Given the description of an element on the screen output the (x, y) to click on. 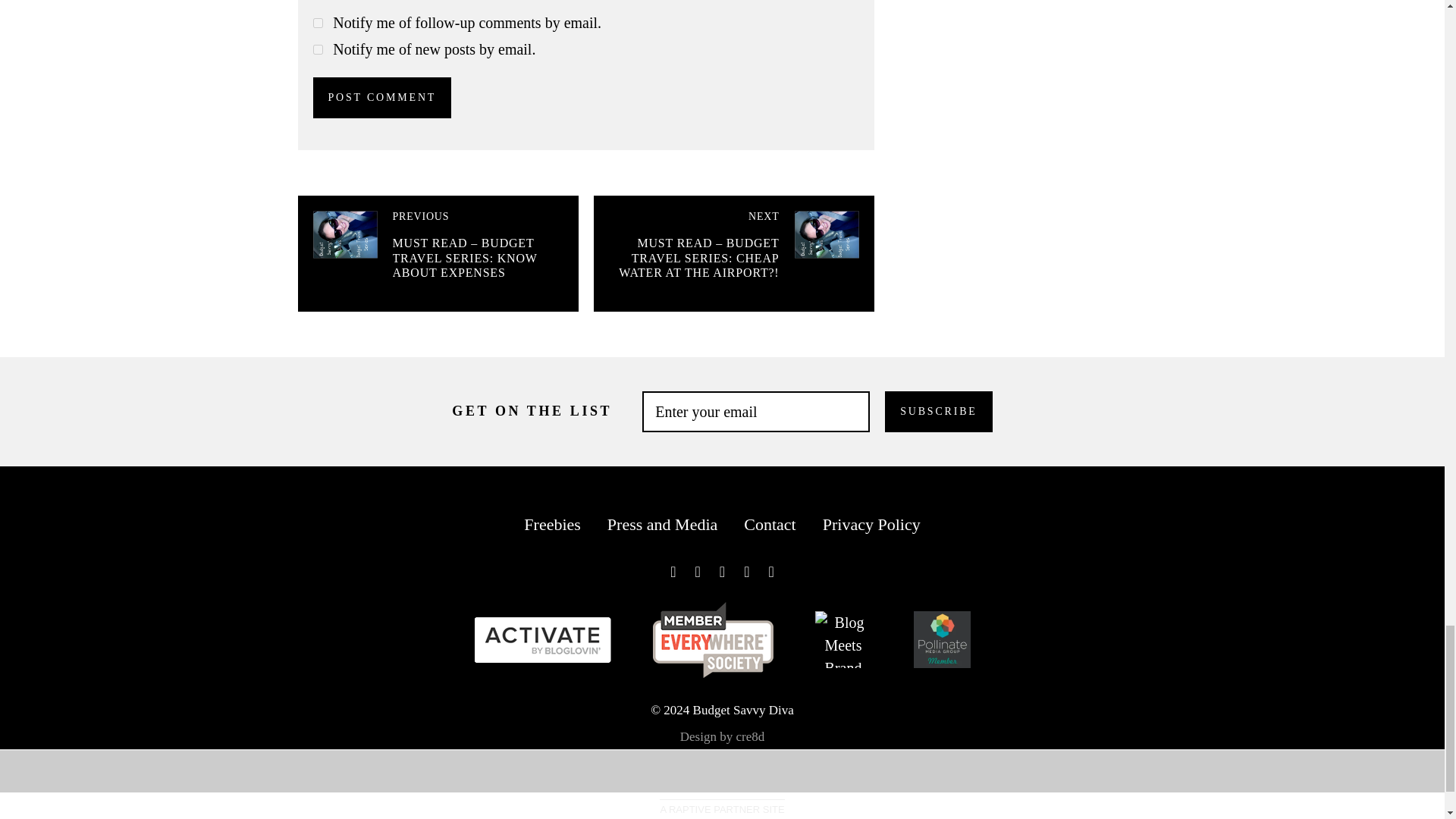
subscribe (317, 22)
subscribe (317, 49)
Subscribe (938, 411)
Post Comment (382, 96)
